Given the description of an element on the screen output the (x, y) to click on. 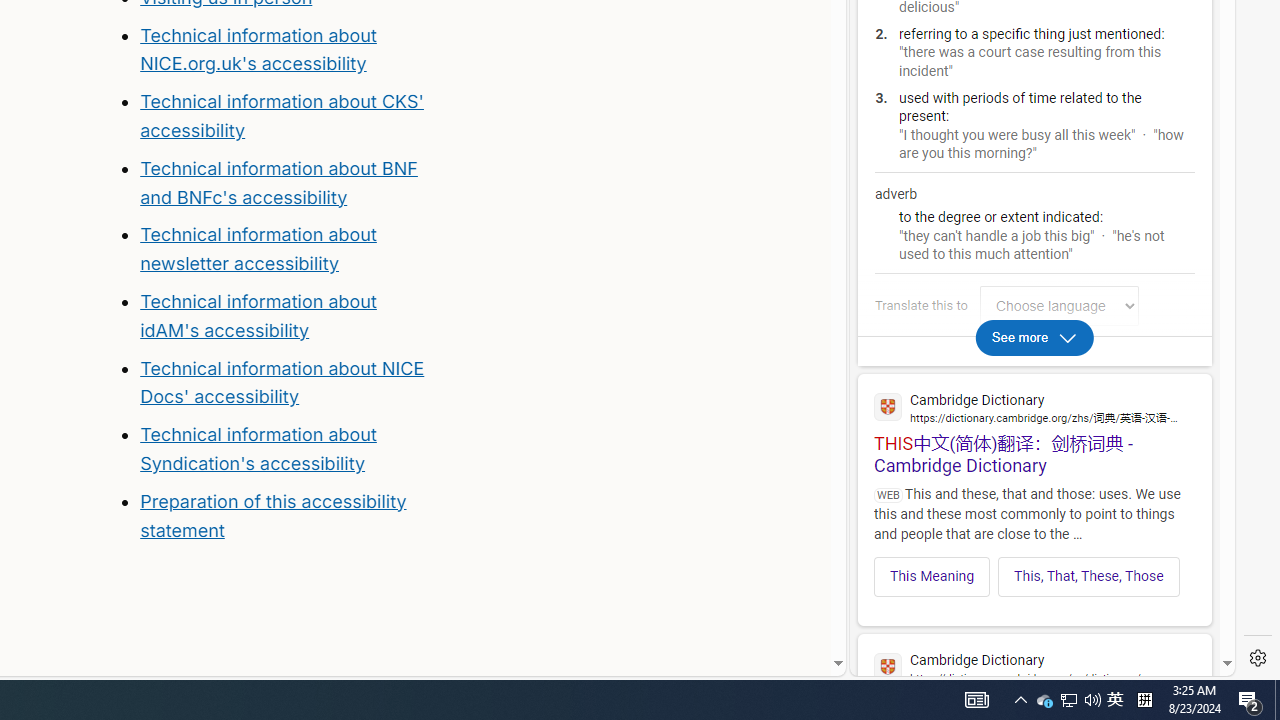
Technical information about Syndication's accessibility (258, 448)
